Given the description of an element on the screen output the (x, y) to click on. 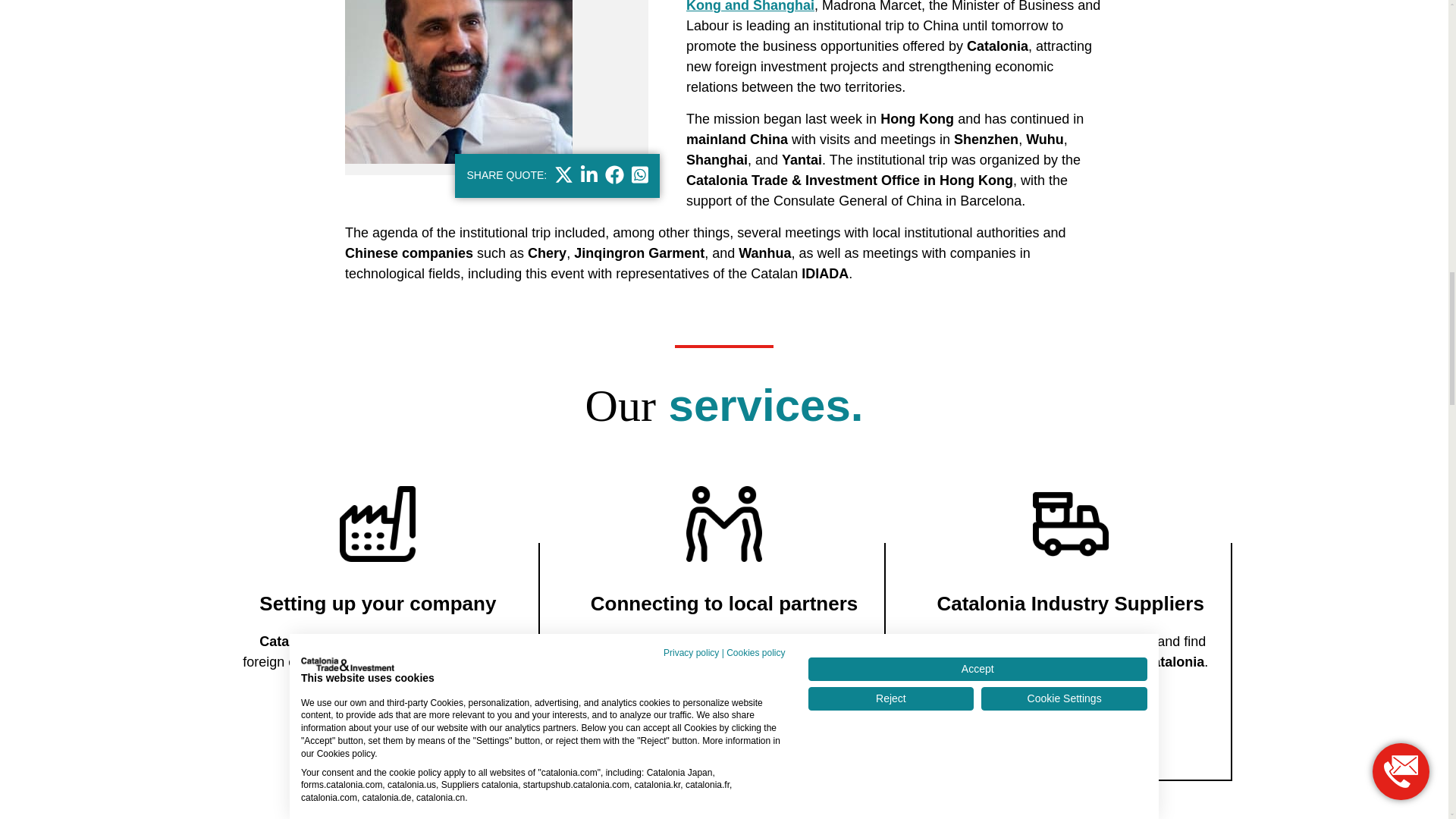
Open new window (639, 174)
Open new window (588, 174)
Open new window (563, 174)
Open new window (614, 174)
